Given the description of an element on the screen output the (x, y) to click on. 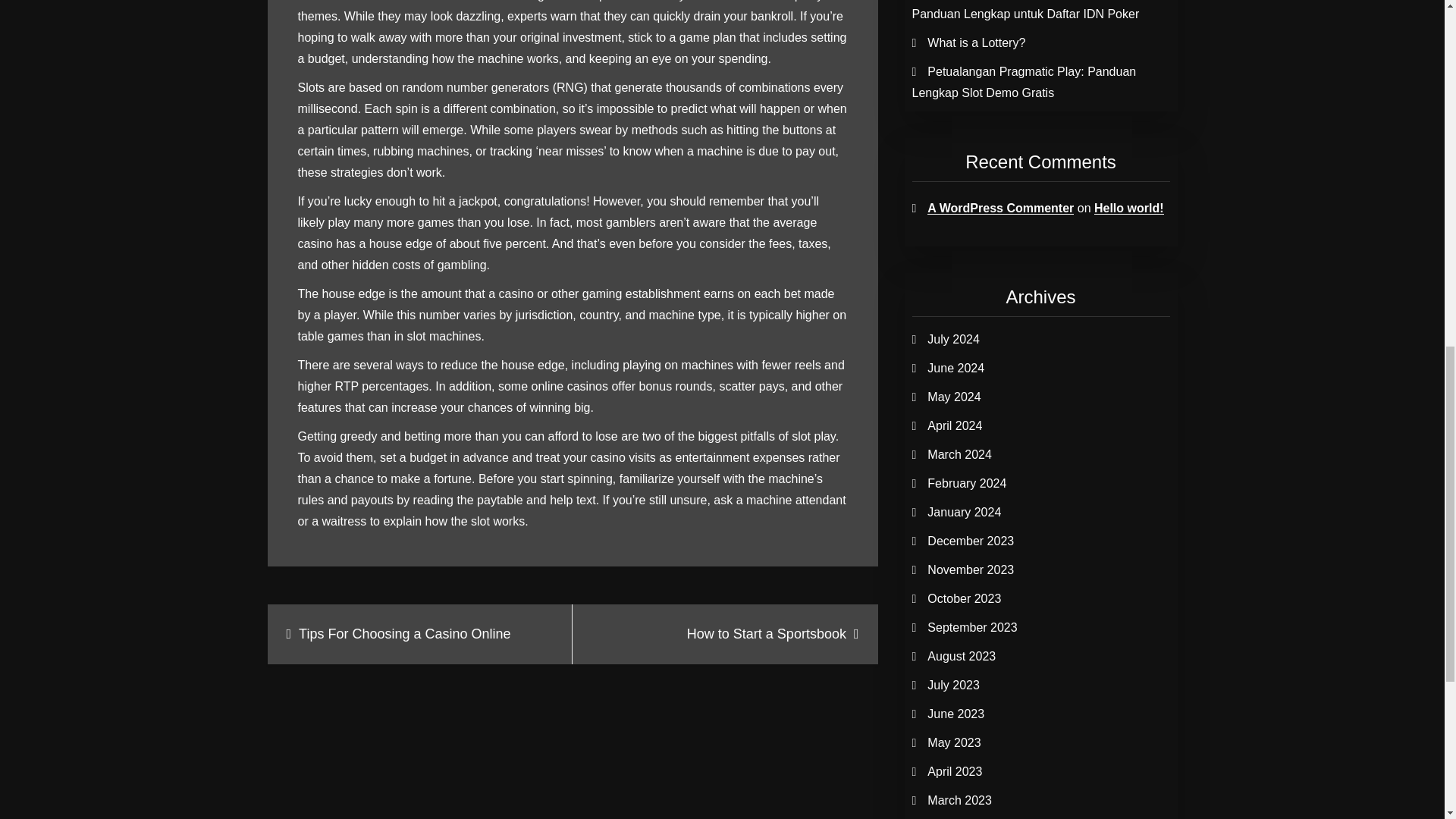
September 2023 (971, 626)
What is a Lottery? (976, 42)
January 2024 (964, 512)
April 2023 (954, 771)
December 2023 (970, 540)
July 2023 (953, 684)
A WordPress Commenter (1000, 207)
Petualangan Pragmatic Play: Panduan Lengkap Slot Demo Gratis (1023, 82)
May 2023 (953, 742)
Hello world! (1128, 207)
February 2024 (966, 482)
October 2023 (964, 598)
How to Start a Sportsbook (724, 634)
March 2023 (959, 799)
June 2024 (955, 367)
